Given the description of an element on the screen output the (x, y) to click on. 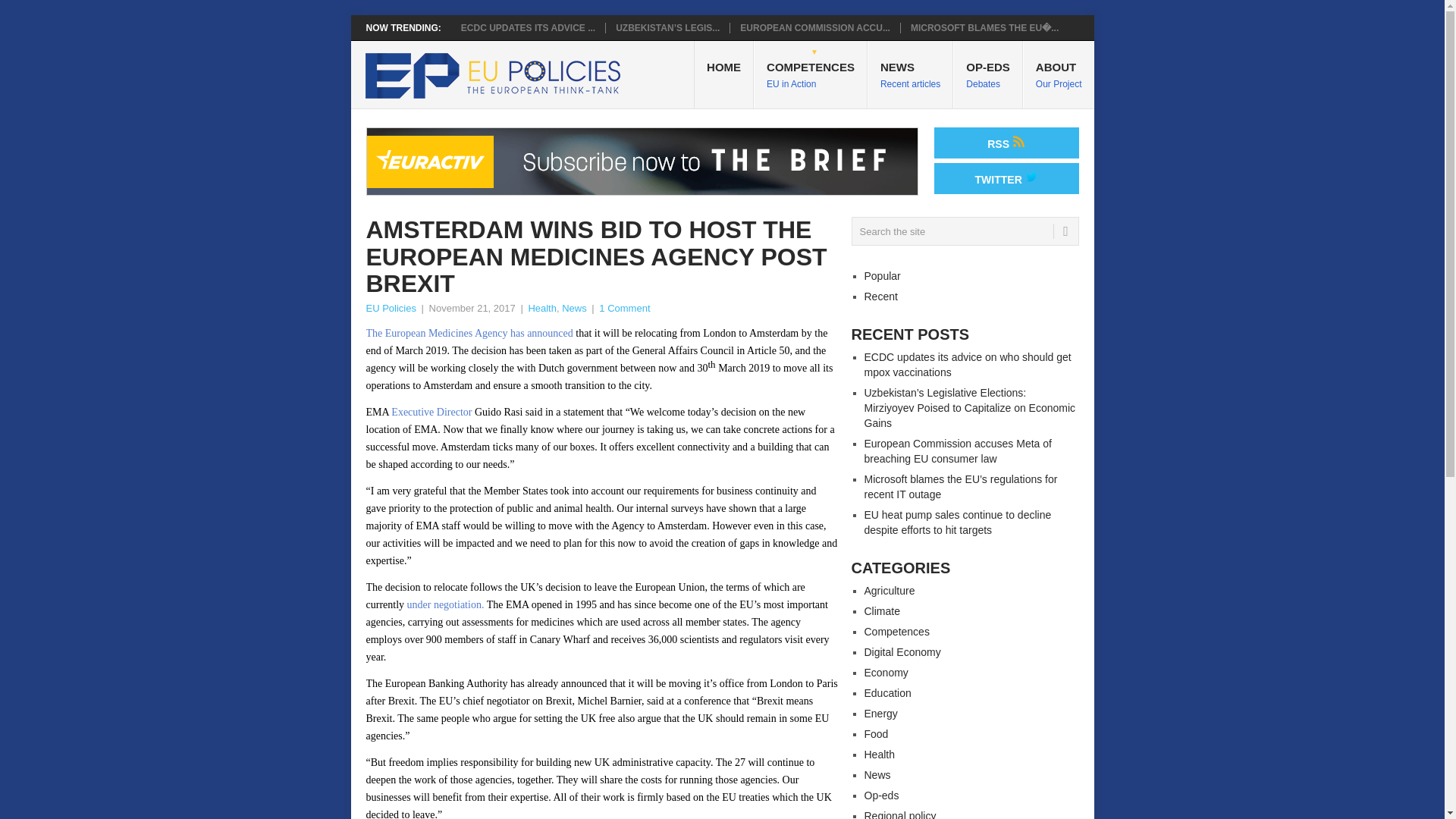
ECDC UPDATES ITS ADVICE ... (528, 27)
Posts by EU Policies (389, 307)
TWITTER (1006, 178)
Search the site (988, 74)
News (810, 74)
RSS (910, 74)
